Given the description of an element on the screen output the (x, y) to click on. 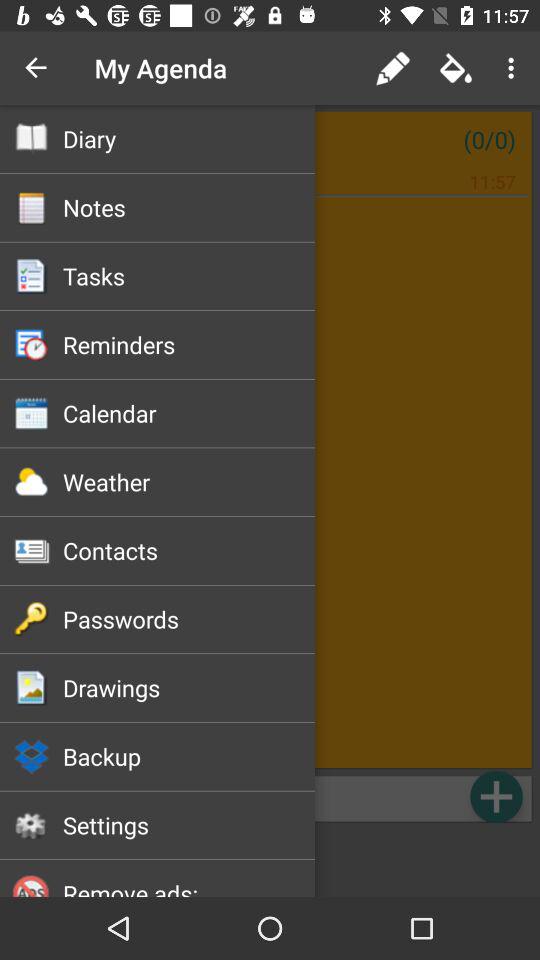
select the second option below my agenda (31, 208)
select the icon which is left to the text weather (31, 481)
click on the option button on the top right hand corner (514, 68)
click on add symbol (496, 796)
